Given the description of an element on the screen output the (x, y) to click on. 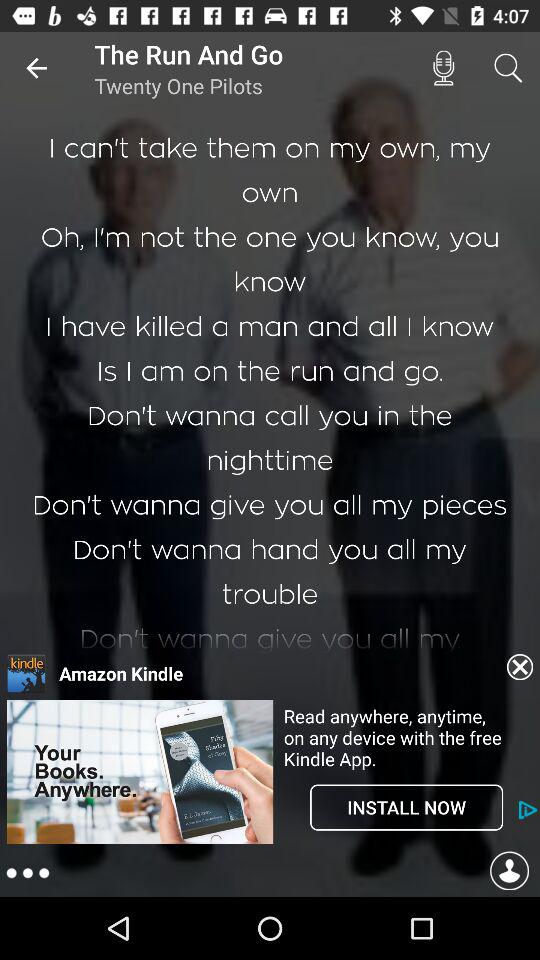
open menu (27, 873)
